Given the description of an element on the screen output the (x, y) to click on. 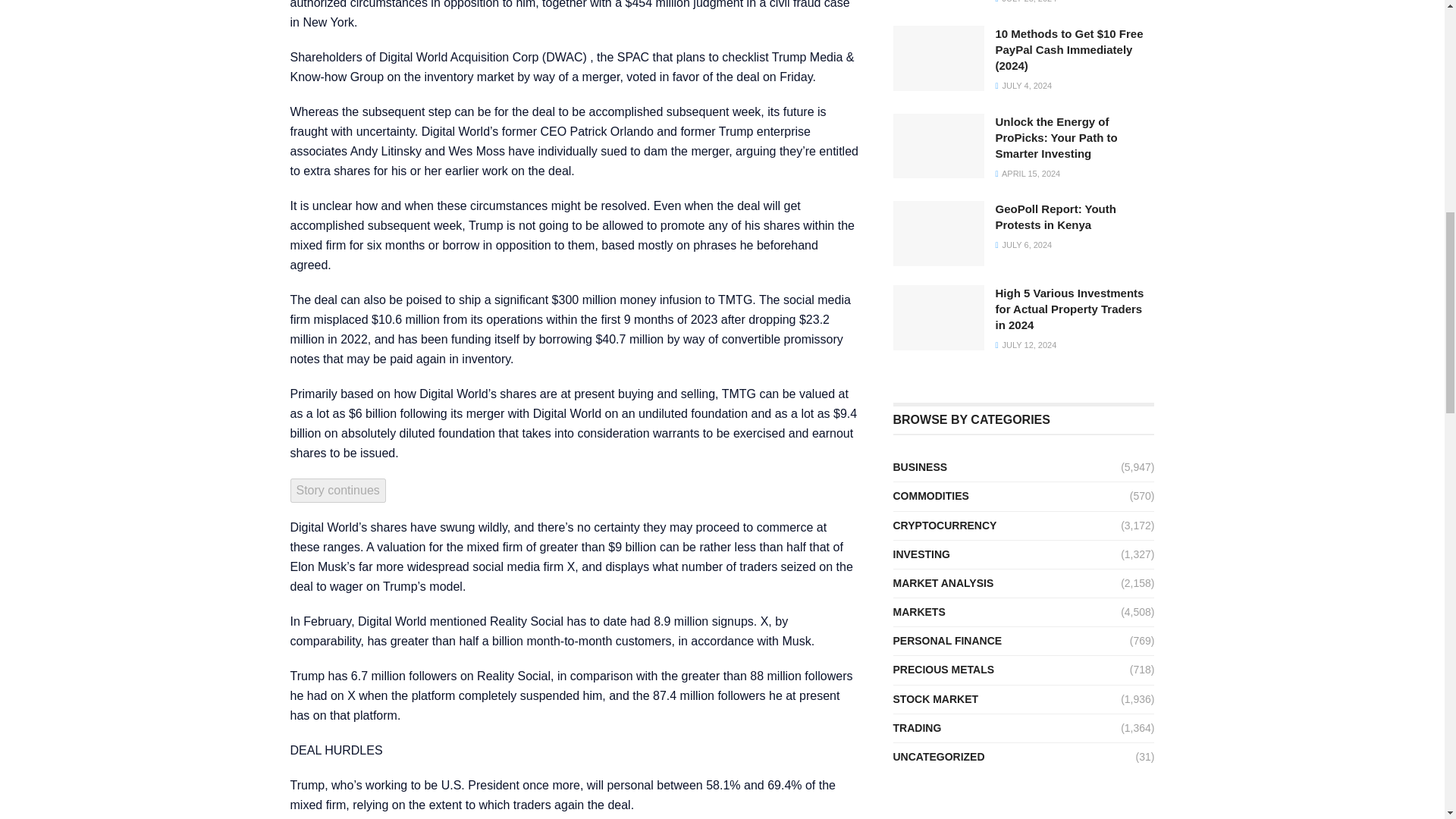
Story continues (337, 490)
